Given the description of an element on the screen output the (x, y) to click on. 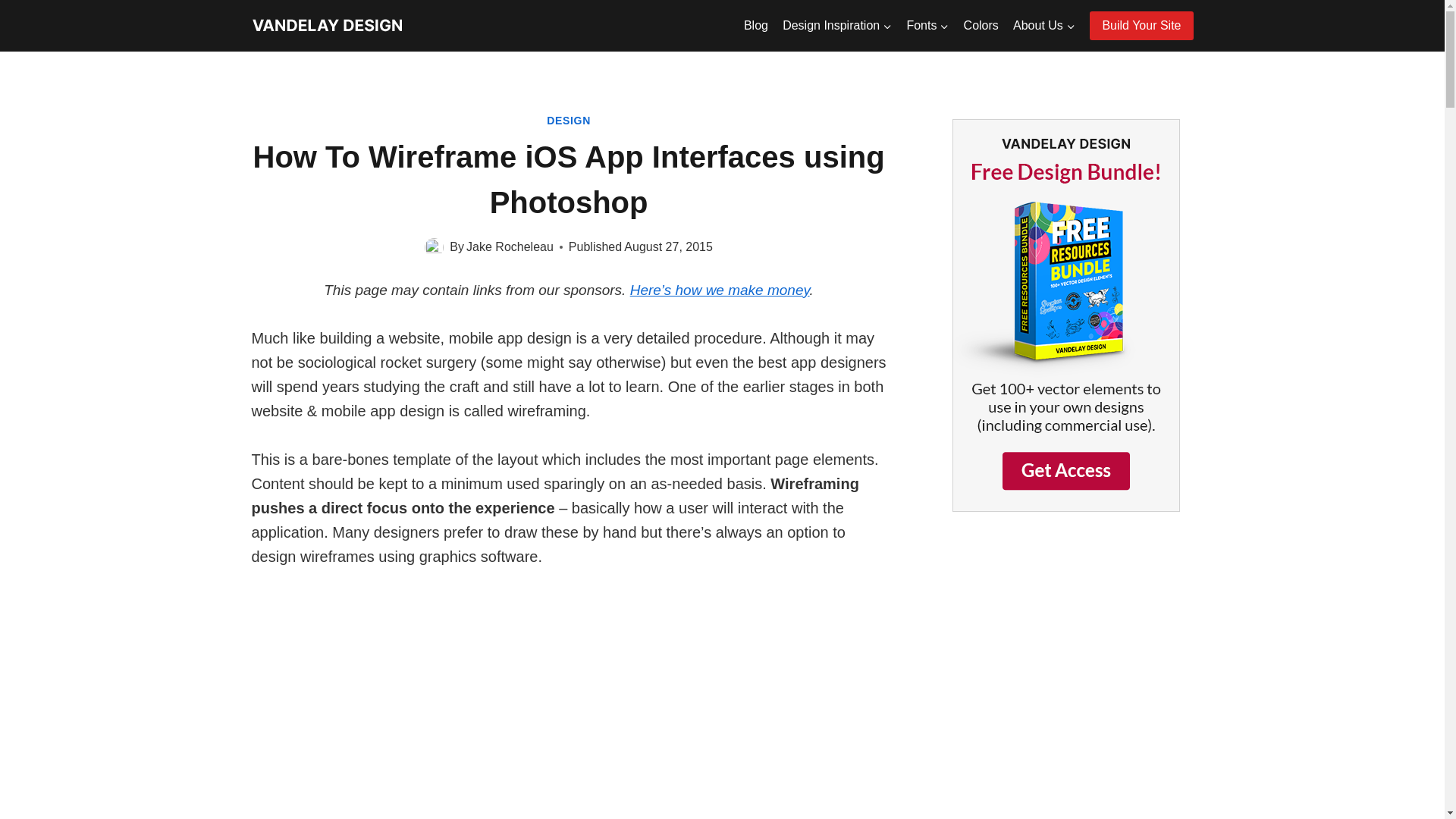
Build Your Site (1140, 25)
About Us (1043, 25)
Colors (981, 25)
DESIGN (569, 120)
Design Inspiration (837, 25)
Fonts (927, 25)
Jake Rocheleau (509, 246)
